Given the description of an element on the screen output the (x, y) to click on. 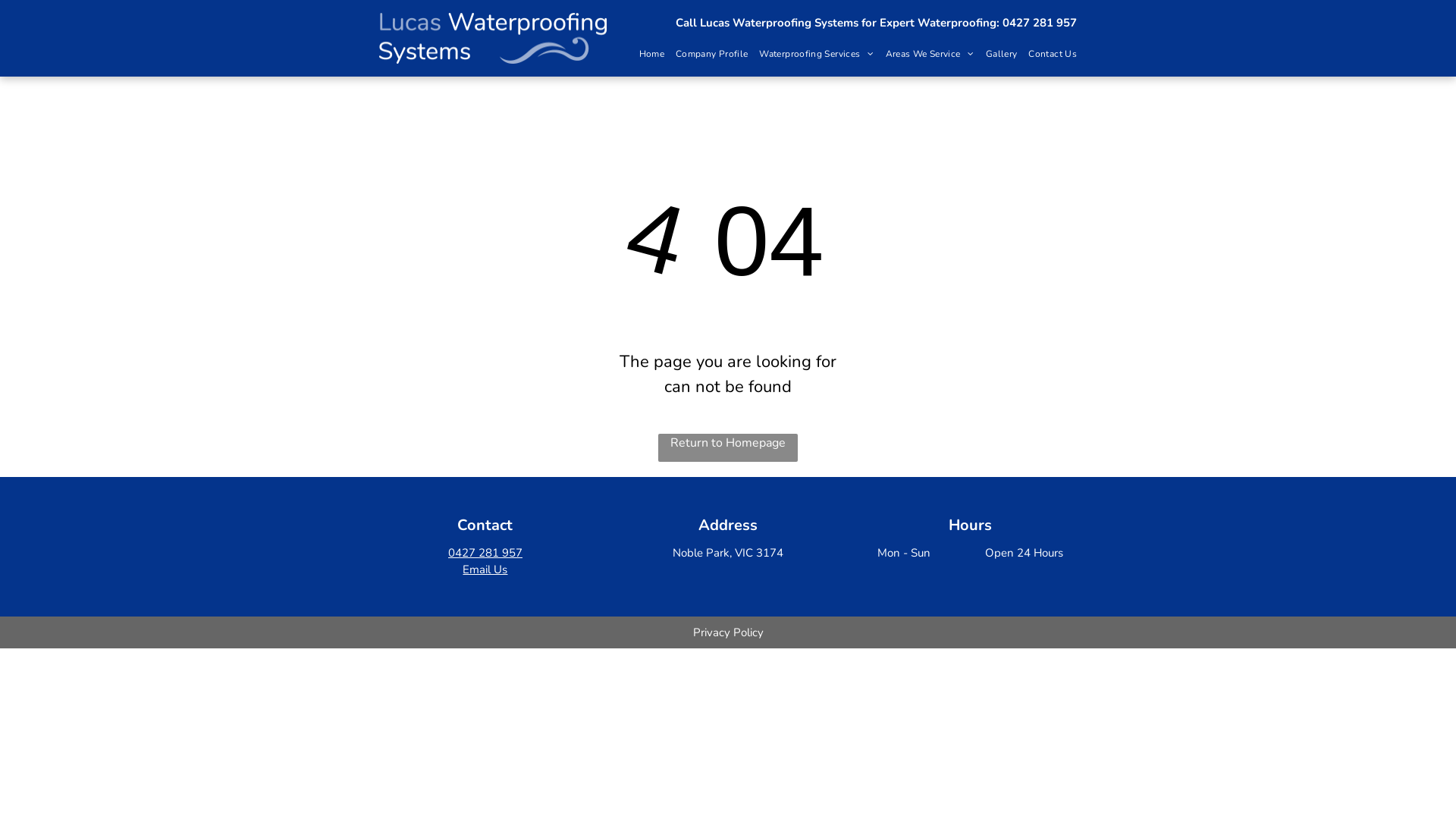
Return to Homepage Element type: text (727, 447)
Company Profile Element type: text (705, 53)
Home Element type: text (645, 53)
Areas We Service Element type: text (924, 53)
Waterproofing Services Element type: text (810, 53)
0427 281 957 Element type: text (1039, 22)
0427 281 957 Element type: text (485, 552)
Email Us Element type: text (484, 569)
Contact Us Element type: text (1046, 53)
Privacy Policy Element type: text (728, 632)
Gallery Element type: text (995, 53)
